Given the description of an element on the screen output the (x, y) to click on. 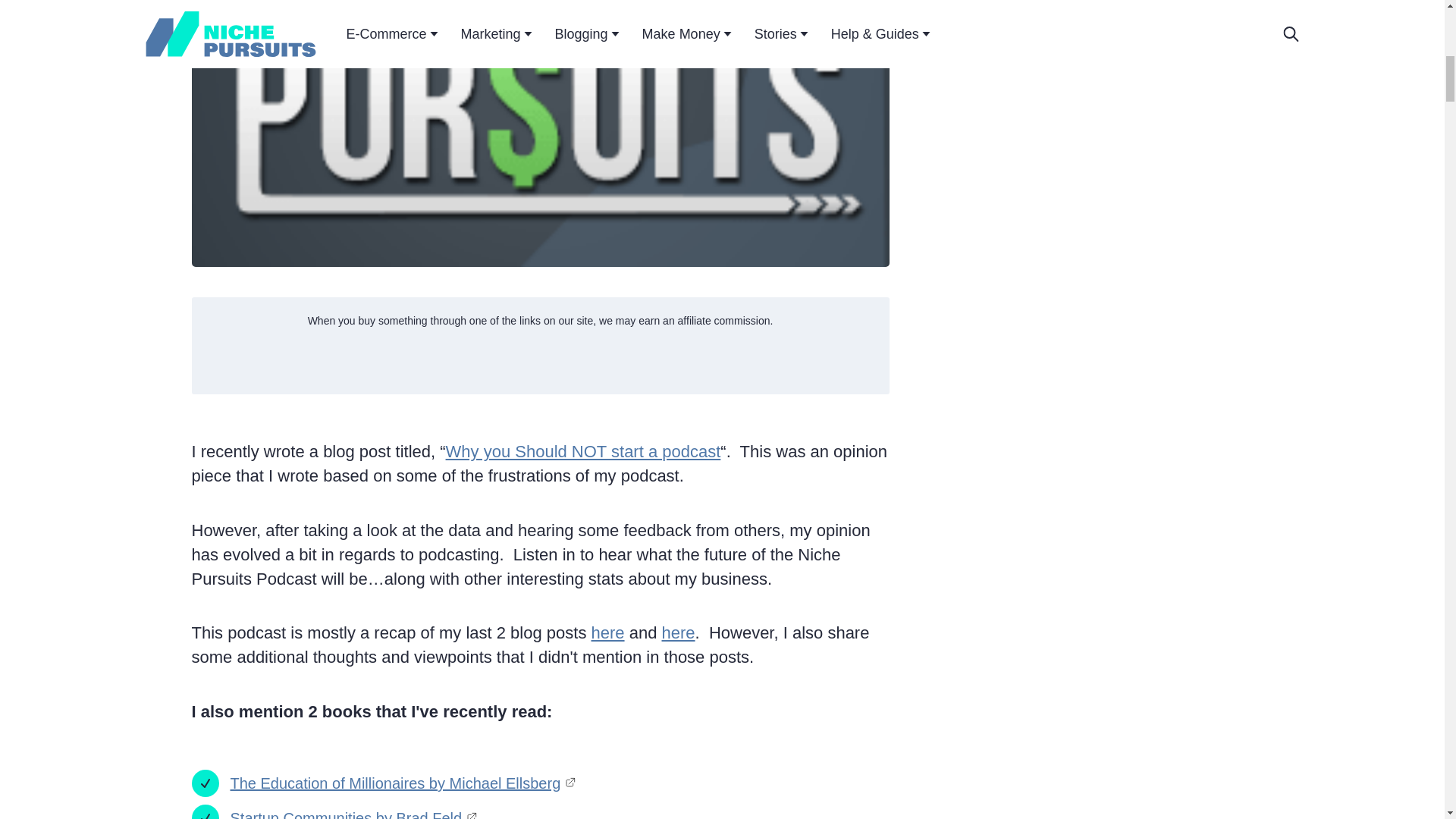
Why You Should NOT Start a Podcast (607, 632)
Why you Should NOT start a podcast (582, 451)
Why You Should NOT Start a Podcast (582, 451)
here (607, 632)
Link goes to external site. (471, 814)
